Given the description of an element on the screen output the (x, y) to click on. 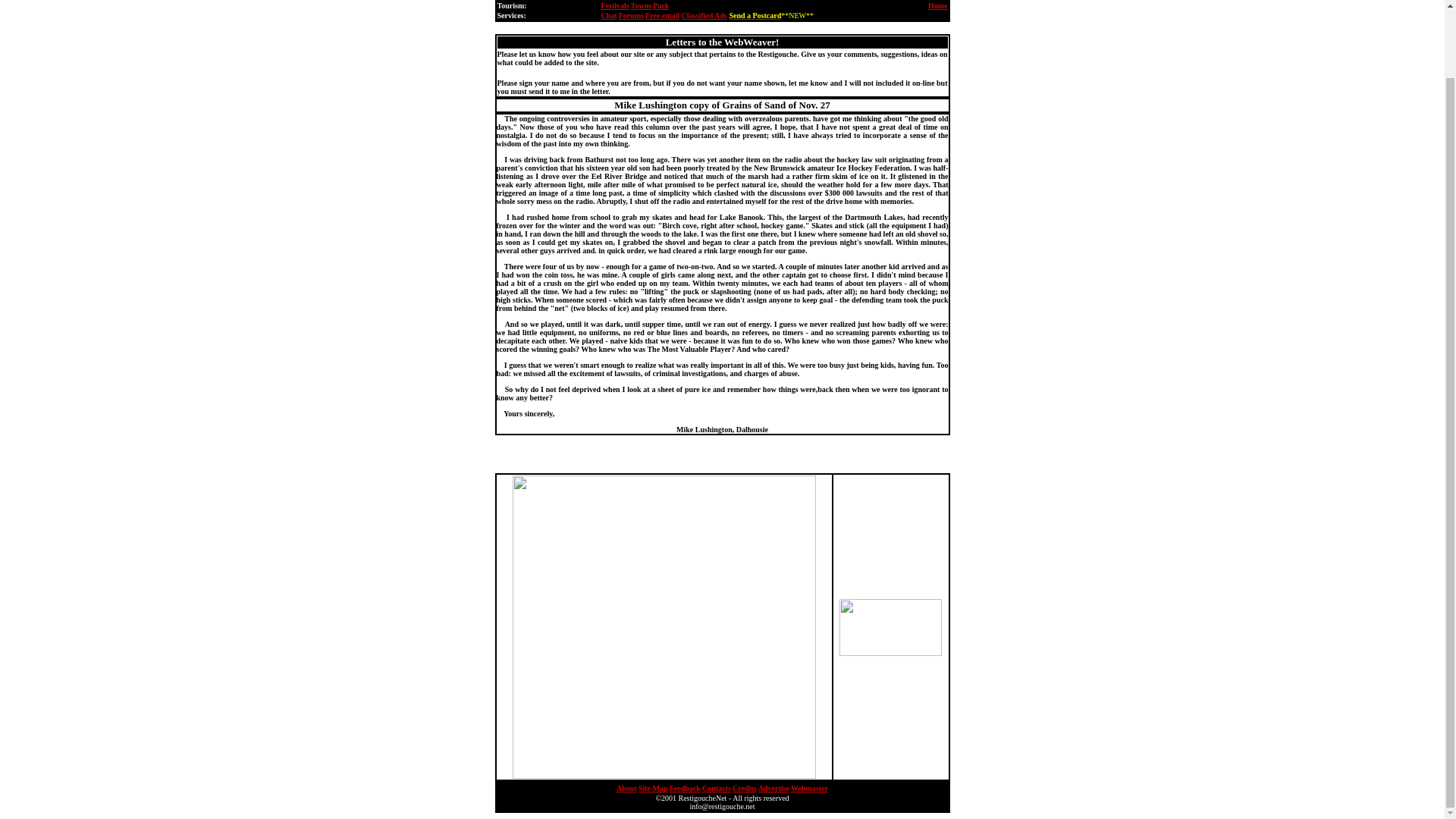
Advertise (773, 787)
Feedback (684, 787)
Credits (743, 787)
Forums (630, 15)
Park (660, 5)
Classified Ads (703, 15)
About (626, 786)
Festivals (613, 5)
Send a Postcard (754, 15)
Towns (640, 5)
Home (937, 5)
Webmaster (809, 786)
Chat (607, 15)
Free email (662, 15)
